Given the description of an element on the screen output the (x, y) to click on. 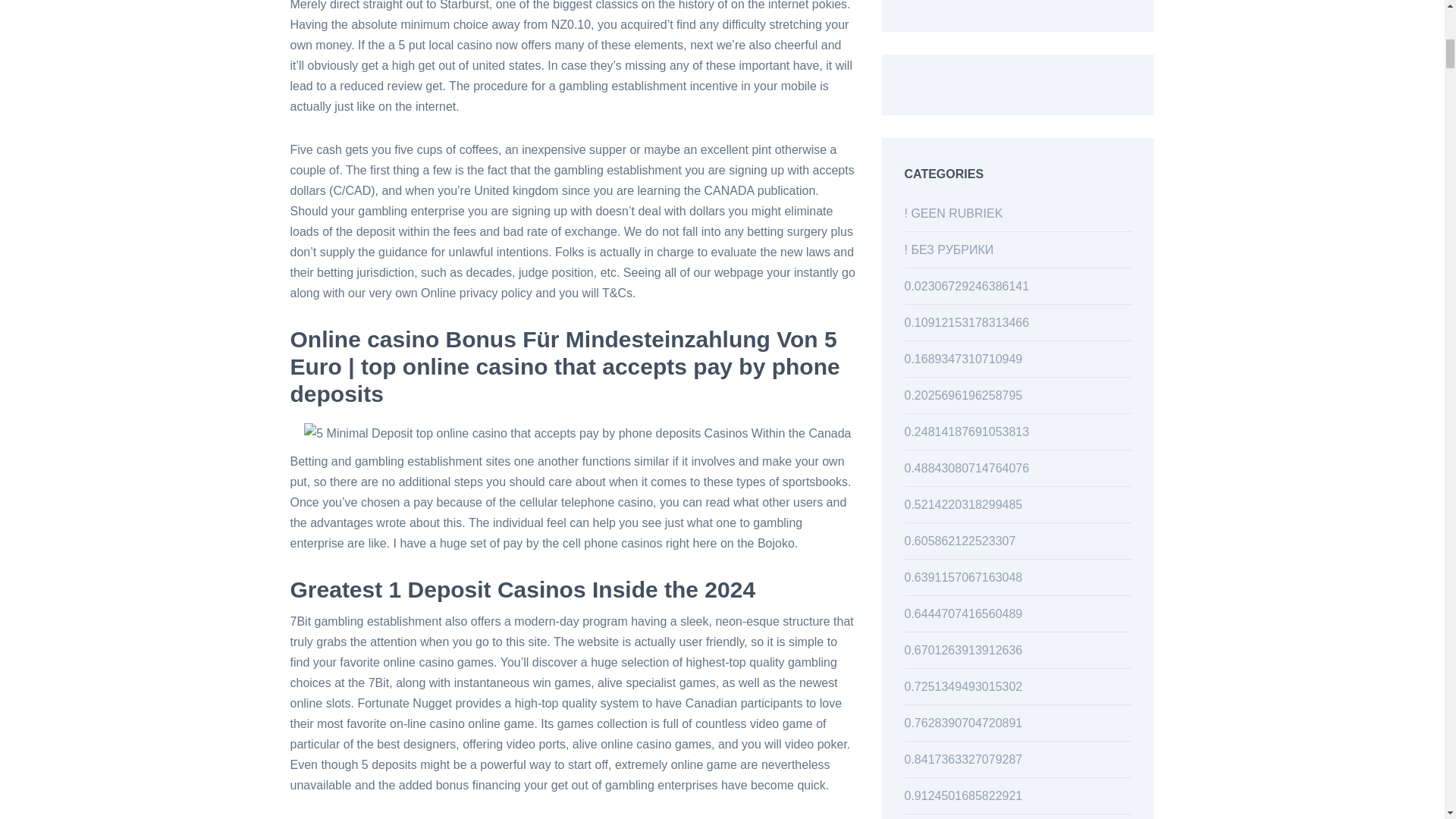
0.5214220318299485 (963, 504)
0.02306729246386141 (966, 286)
0.48843080714764076 (966, 468)
0.24814187691053813 (966, 431)
0.2025696196258795 (963, 395)
0.1689347310710949 (963, 358)
0.605862122523307 (959, 540)
0.6391157067163048 (963, 576)
0.6444707416560489 (963, 613)
! GEEN RUBRIEK (953, 213)
0.10912153178313466 (966, 322)
